Given the description of an element on the screen output the (x, y) to click on. 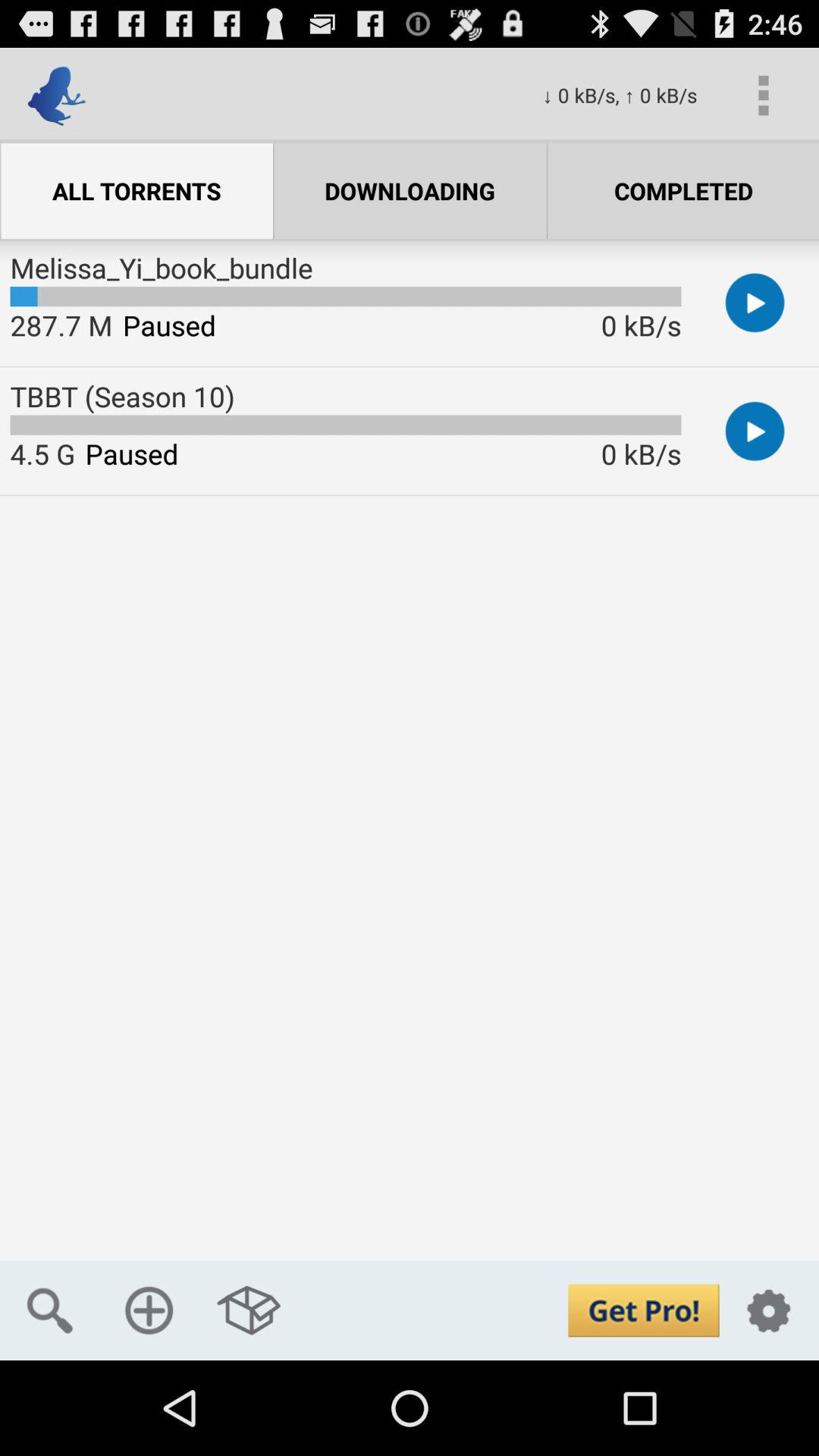
click the tbbt (season 10) icon (122, 396)
